Given the description of an element on the screen output the (x, y) to click on. 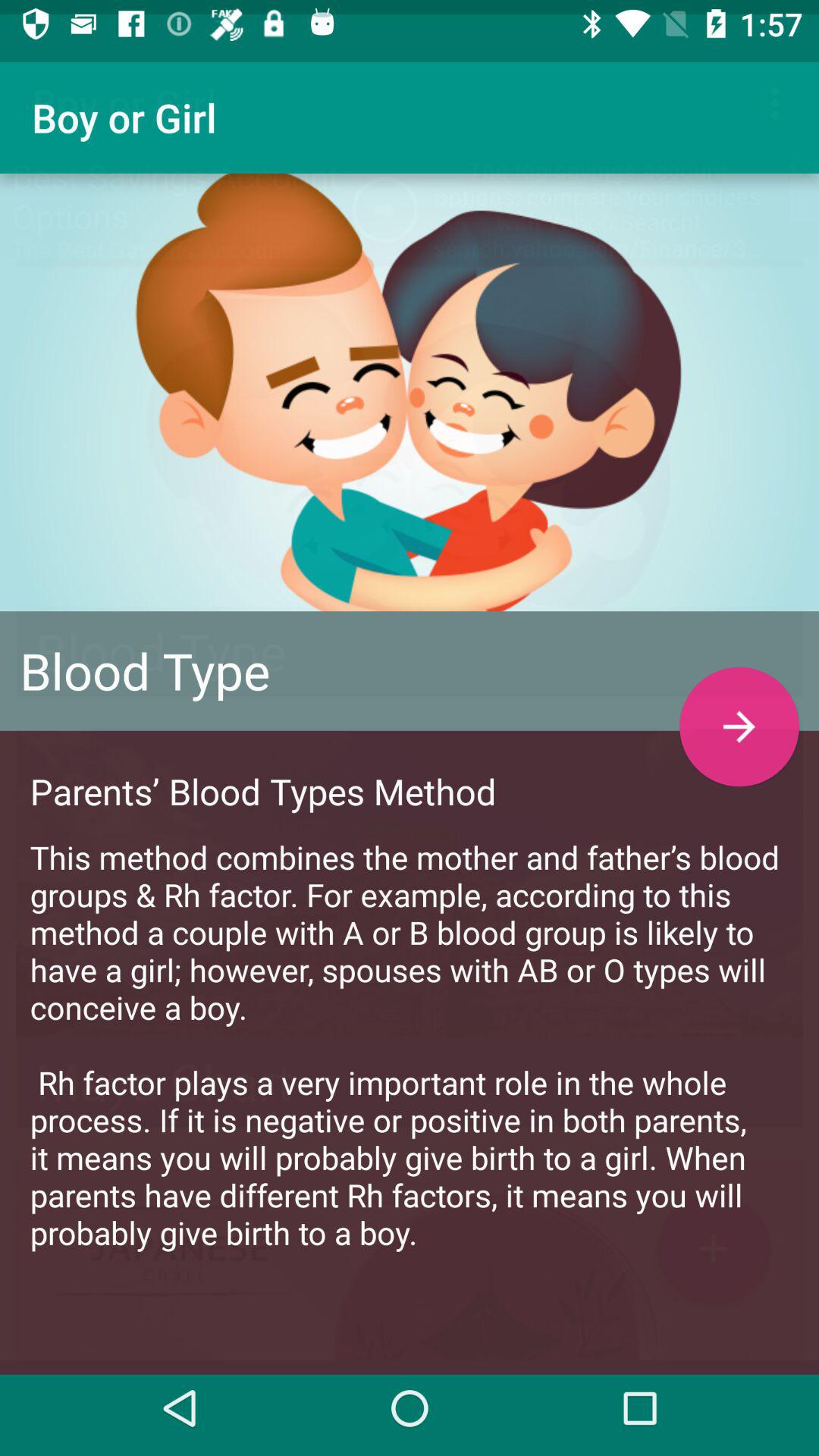
choose app below the parents blood types (409, 1030)
